Given the description of an element on the screen output the (x, y) to click on. 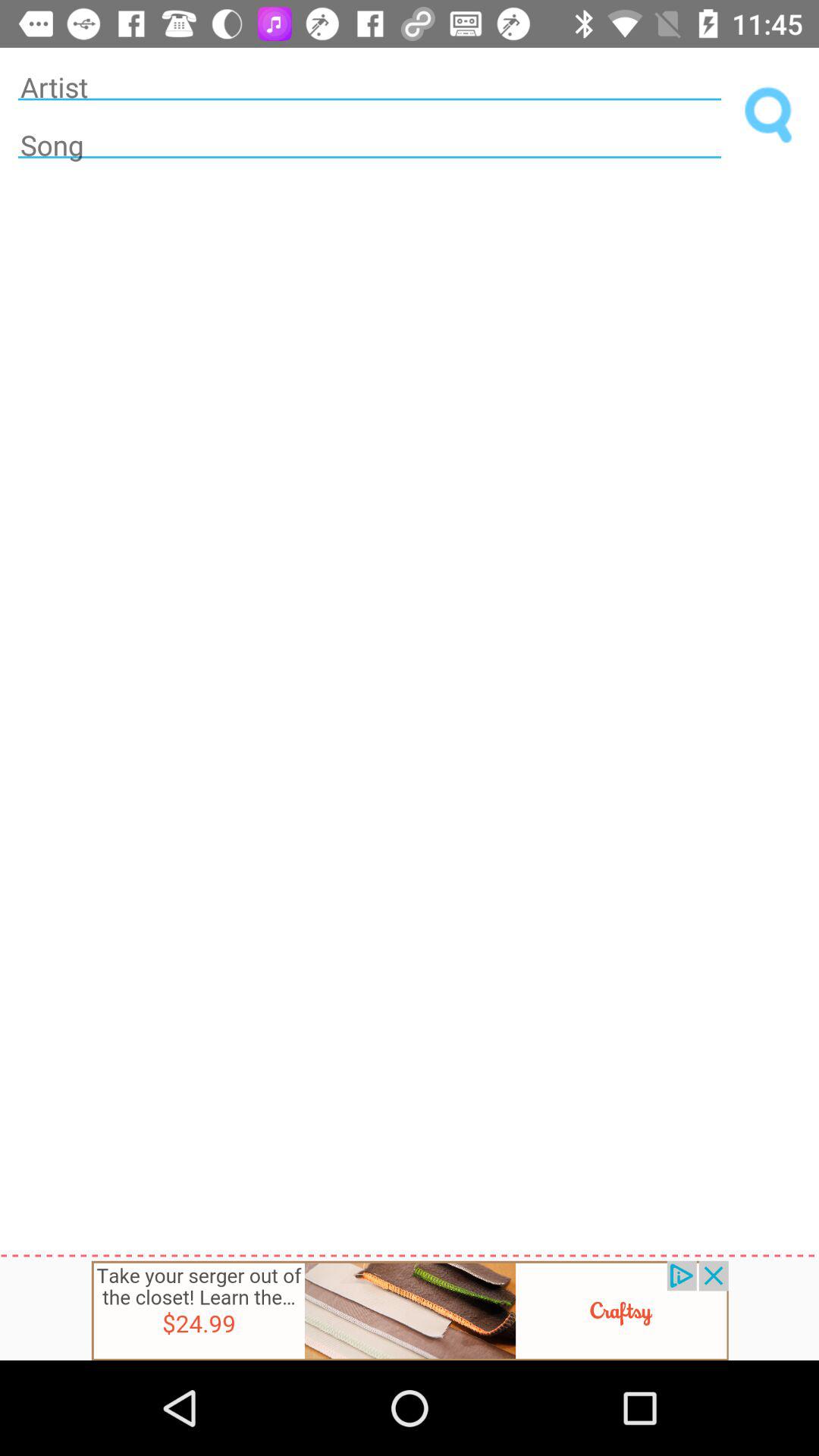
search (768, 115)
